Given the description of an element on the screen output the (x, y) to click on. 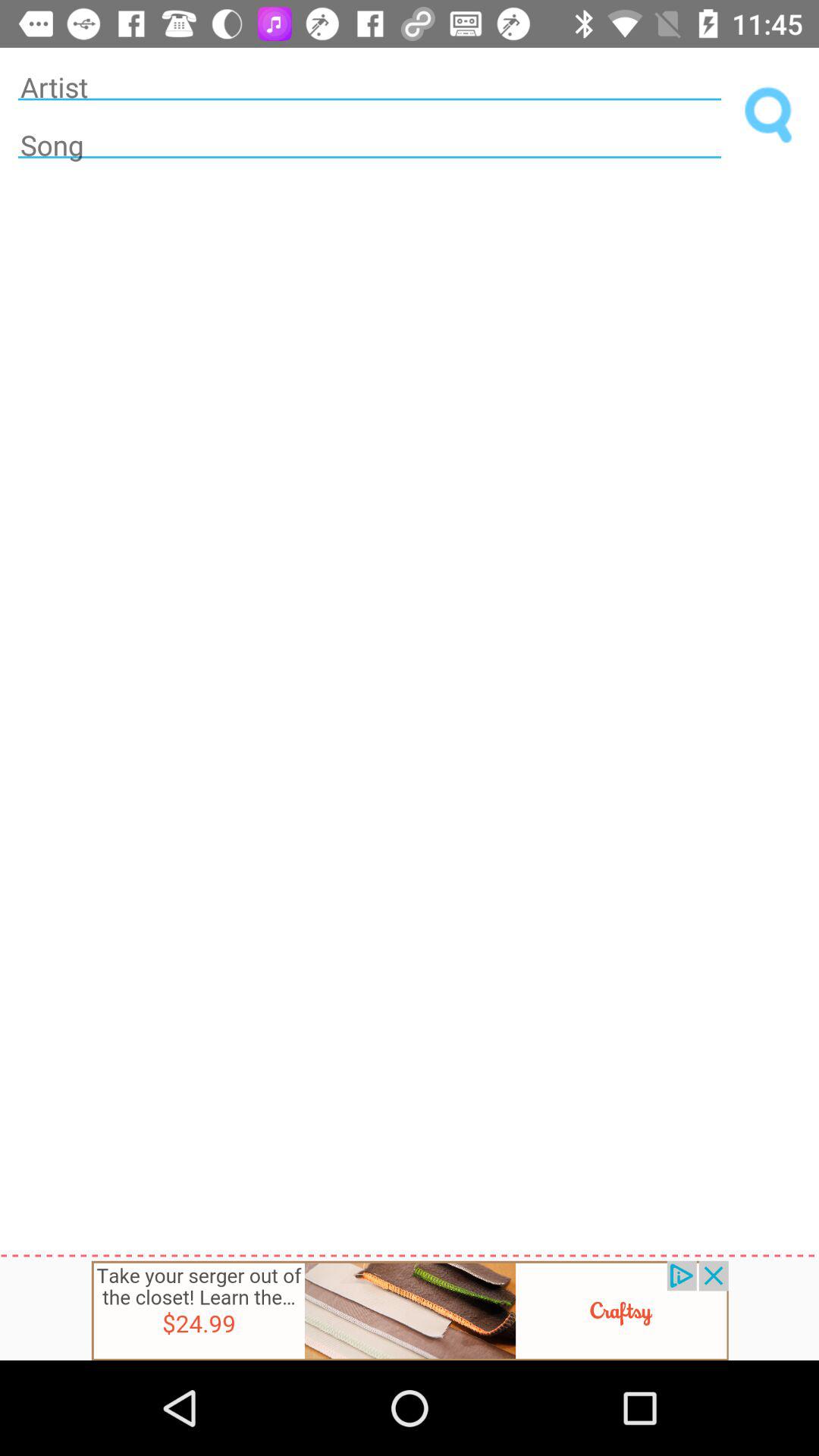
search (768, 115)
